Given the description of an element on the screen output the (x, y) to click on. 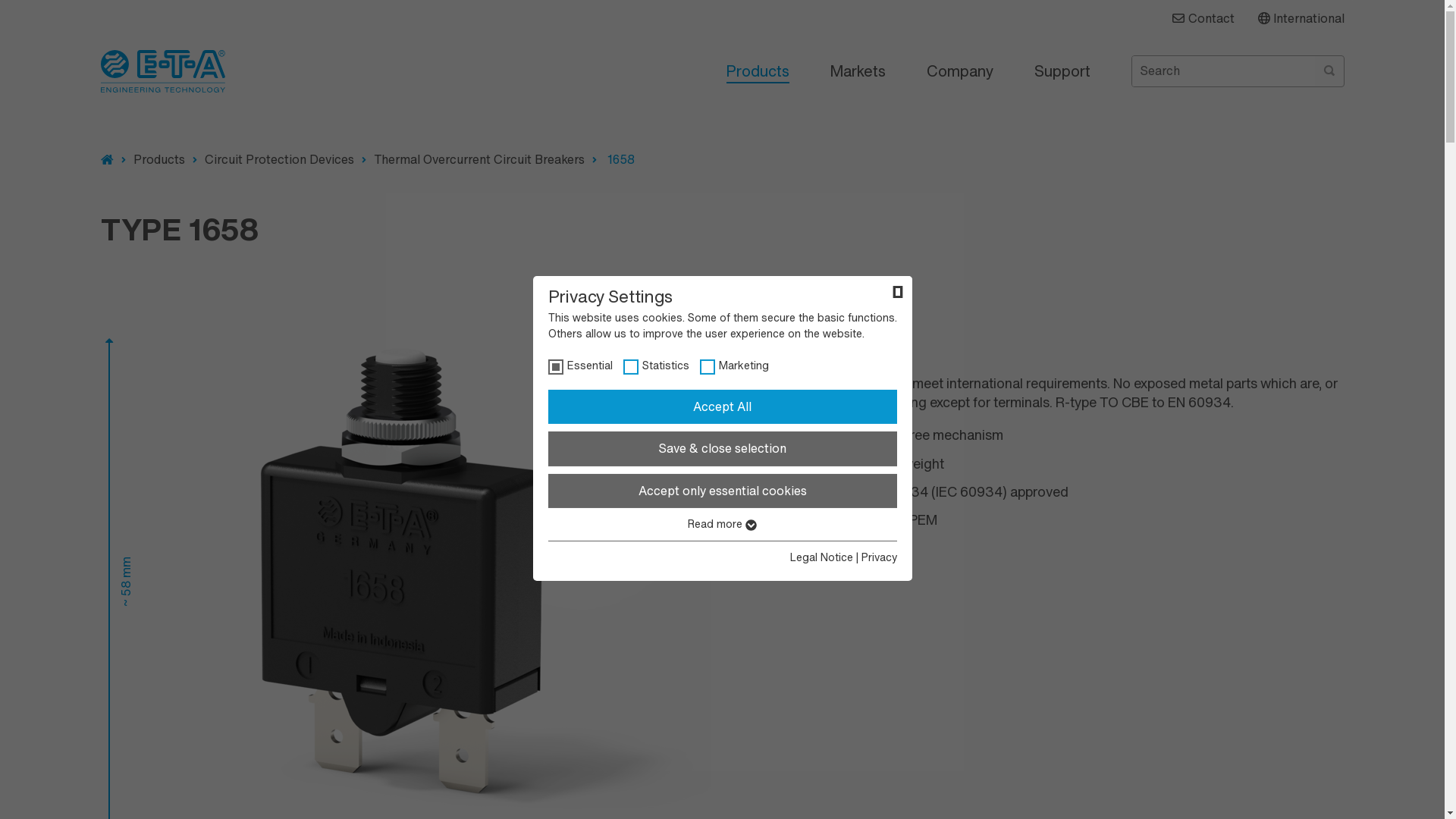
Products Element type: text (106, 159)
Read more Element type: text (721, 523)
Accept All Element type: text (721, 406)
1658 Element type: text (619, 158)
Products Element type: text (757, 70)
Data sheet Element type: text (774, 336)
Accept only essential cookies Element type: text (721, 490)
Legal Notice Element type: text (821, 556)
To Homepage Element type: hover (162, 71)
Circuit Protection Devices Element type: text (279, 158)
Products Element type: text (159, 158)
Thermal Overcurrent Circuit Breakers Element type: text (478, 158)
 International Element type: text (1300, 18)
Save & close selection Element type: text (721, 448)
Support Element type: text (1062, 70)
Markets Element type: text (856, 70)
Company Element type: text (960, 70)
Contact Element type: text (1202, 17)
Privacy Element type: text (879, 556)
